Given the description of an element on the screen output the (x, y) to click on. 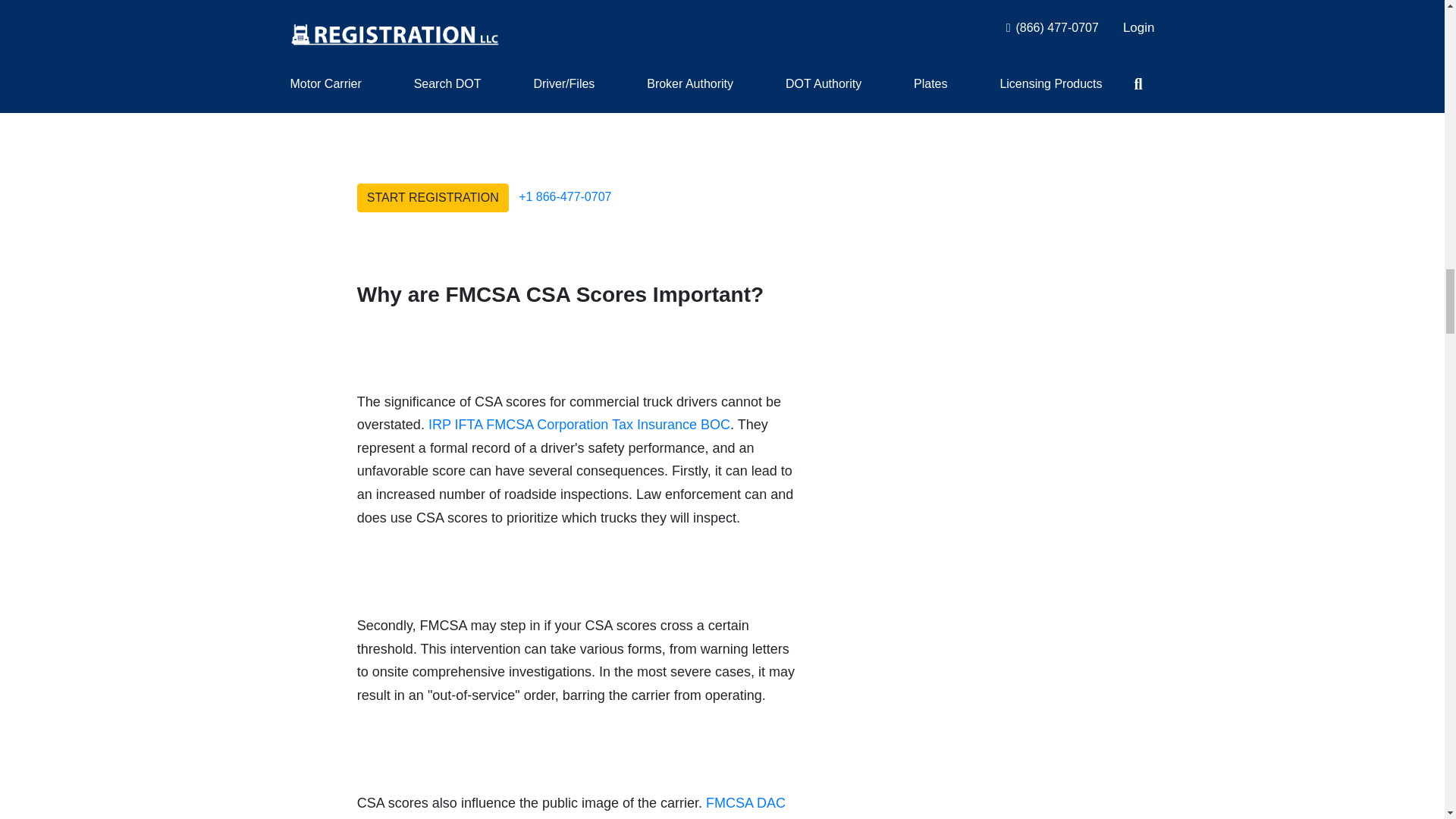
START REGISTRATION (432, 197)
IRP IFTA FMCSA Corporation Tax Insurance BOC (579, 424)
FMCSA DAC Report (571, 807)
